Given the description of an element on the screen output the (x, y) to click on. 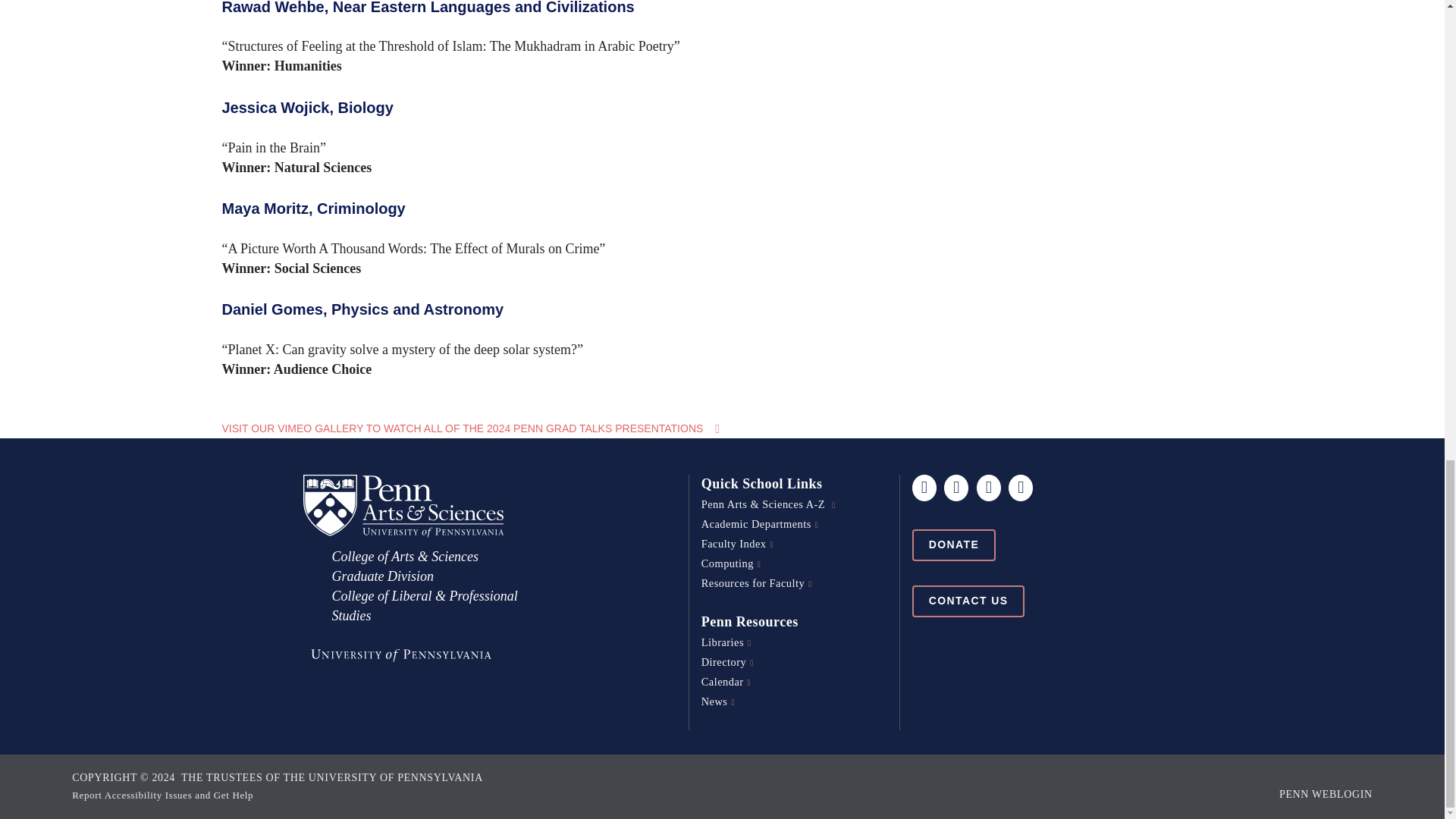
Penn Weblogin (1326, 794)
A to Z (768, 503)
